Given the description of an element on the screen output the (x, y) to click on. 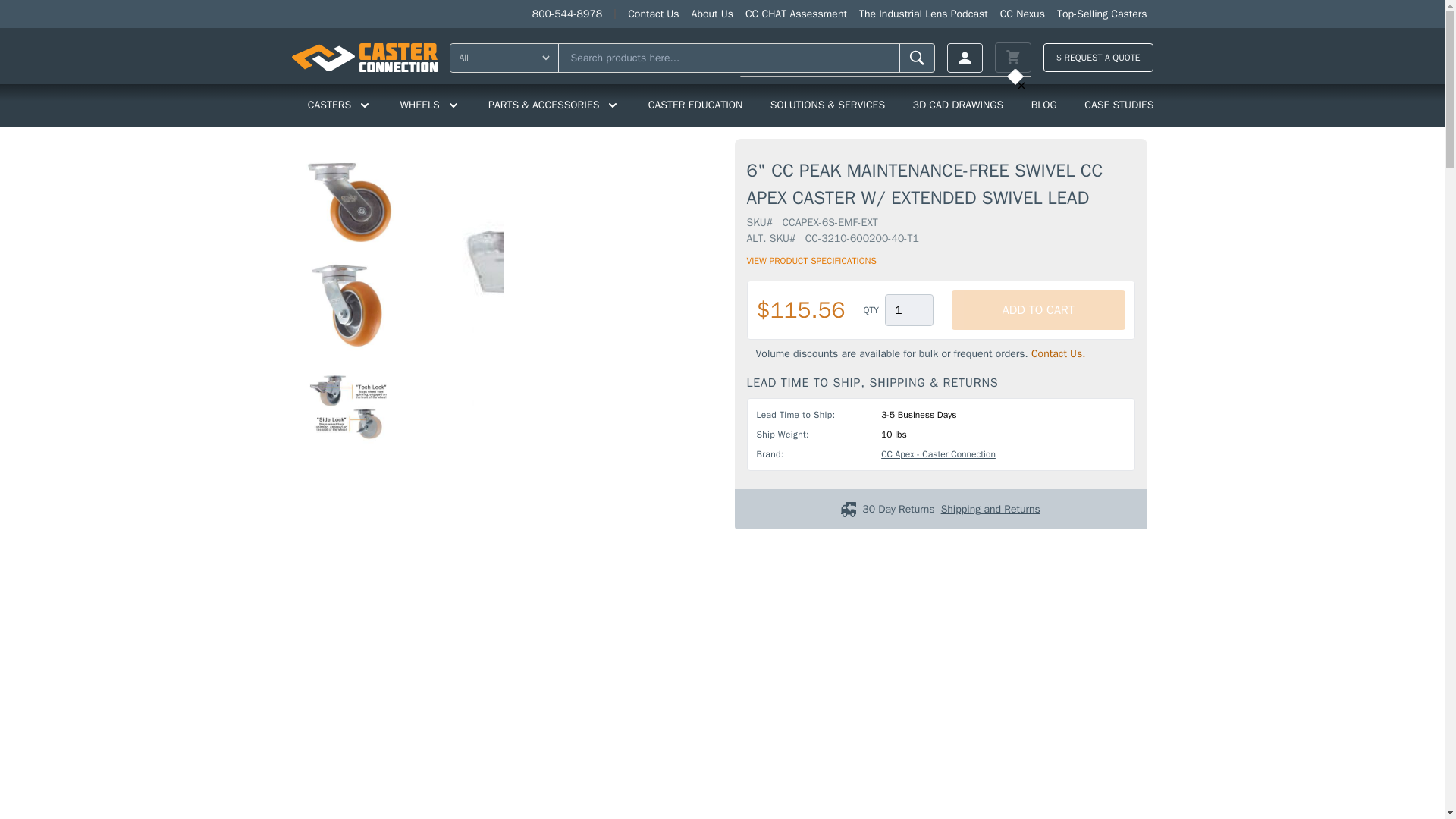
The Industrial Lens Podcast (923, 13)
Contact Us (652, 13)
CC Nexus (1022, 13)
800-544-8978 (566, 13)
About Us (712, 13)
Top-Selling Casters (1102, 13)
1 (909, 309)
CC CHAT Assessment (796, 13)
CASTERS (339, 105)
